Given the description of an element on the screen output the (x, y) to click on. 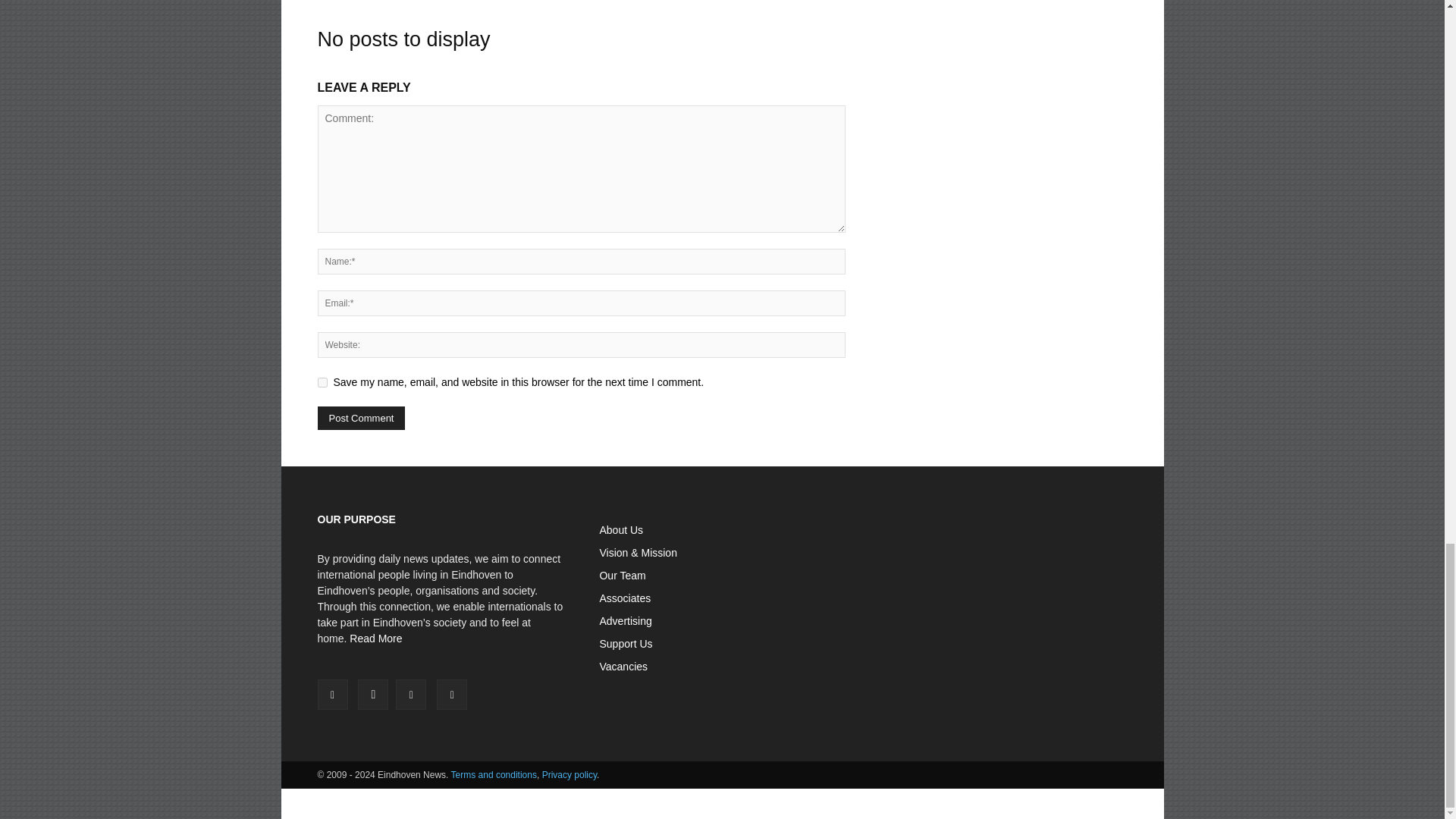
yes (321, 382)
Post Comment (360, 417)
